Given the description of an element on the screen output the (x, y) to click on. 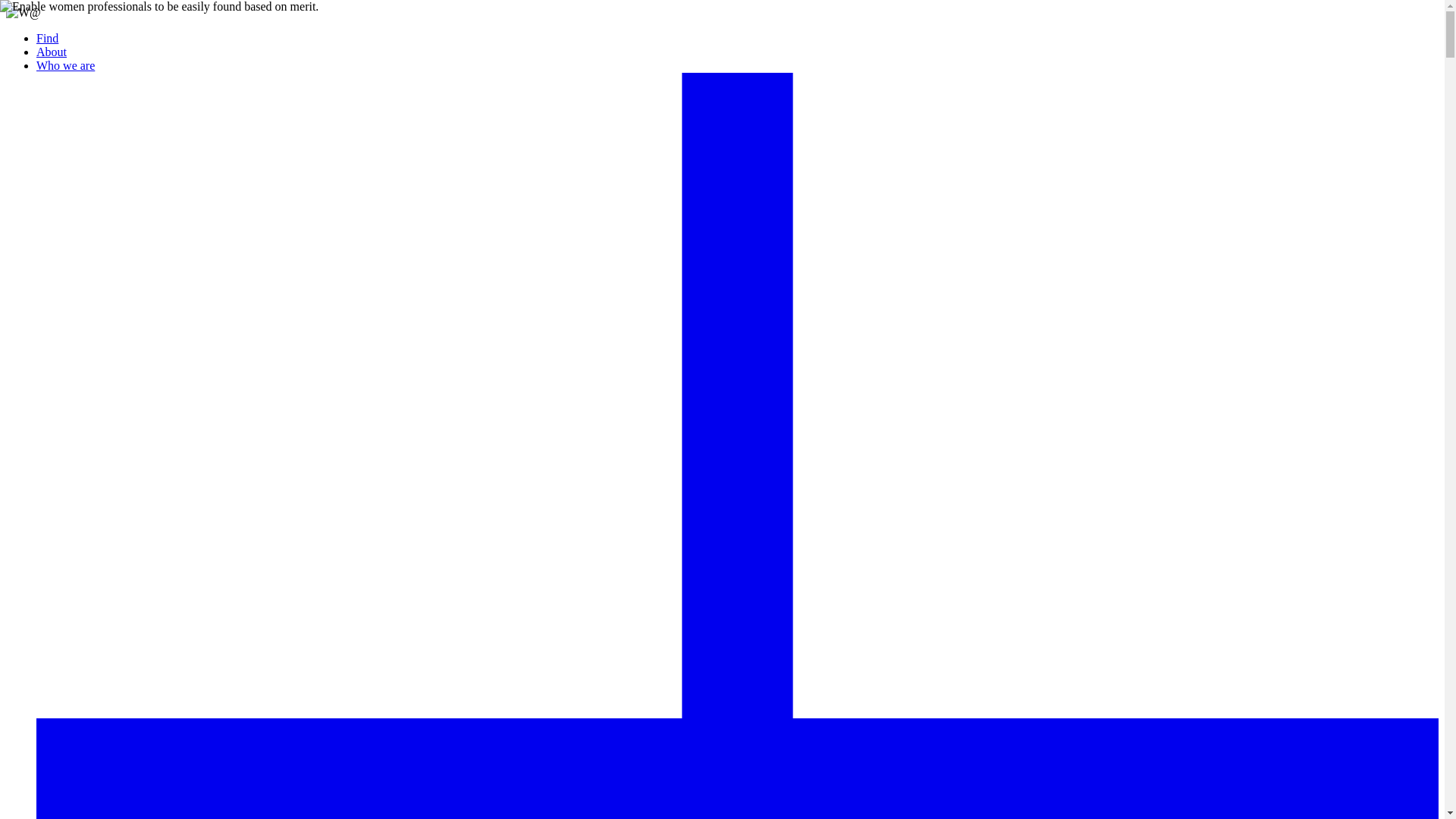
Find (47, 38)
About (51, 51)
